Given the description of an element on the screen output the (x, y) to click on. 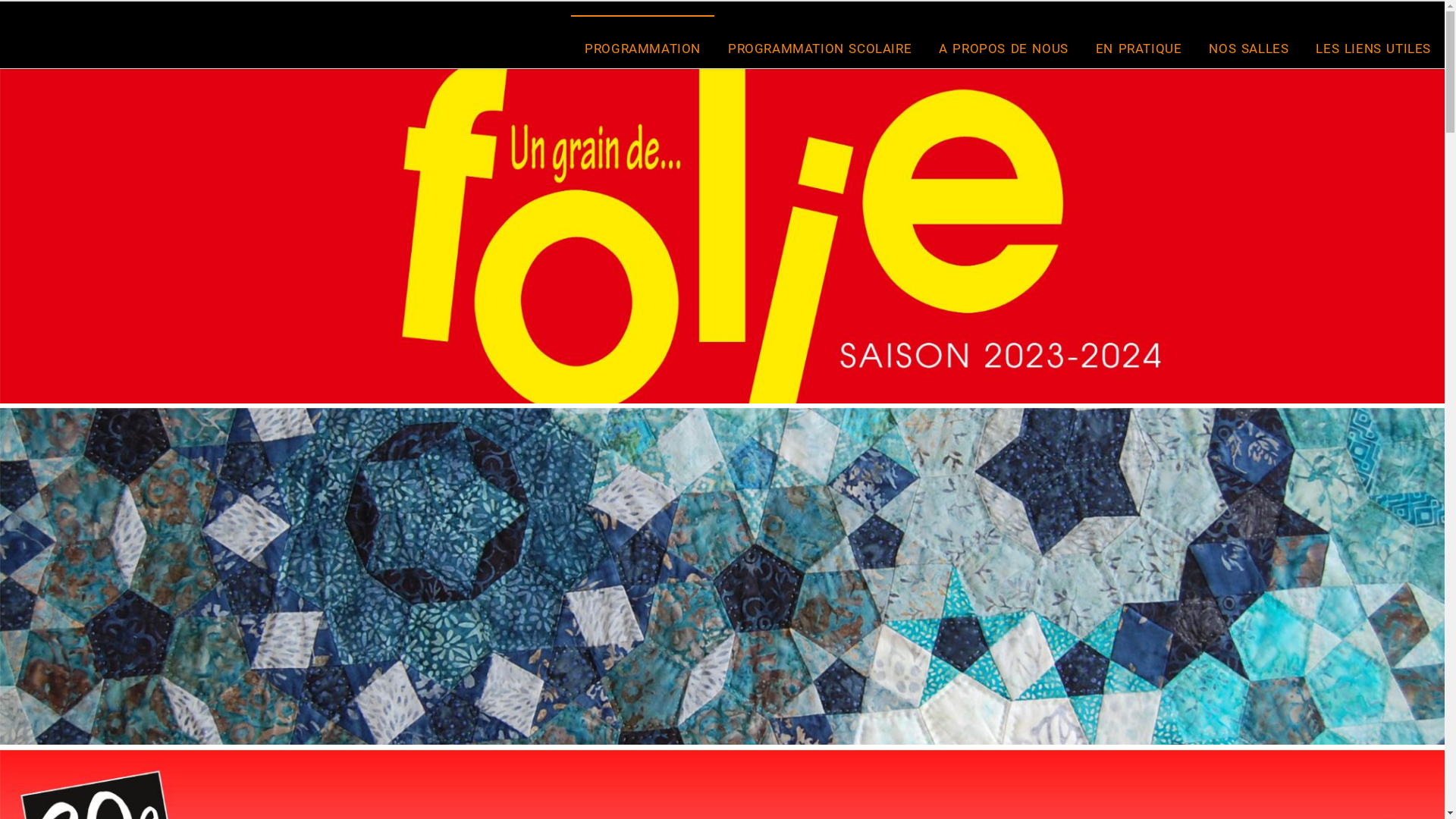
NOS SALLES Element type: text (1248, 48)
EN PRATIQUE Element type: text (1138, 48)
PROGRAMMATION SCOLAIRE Element type: text (819, 48)
A PROPOS DE NOUS Element type: text (1003, 48)
LES LIENS UTILES Element type: text (1373, 48)
PROGRAMMATION Element type: text (642, 48)
